Given the description of an element on the screen output the (x, y) to click on. 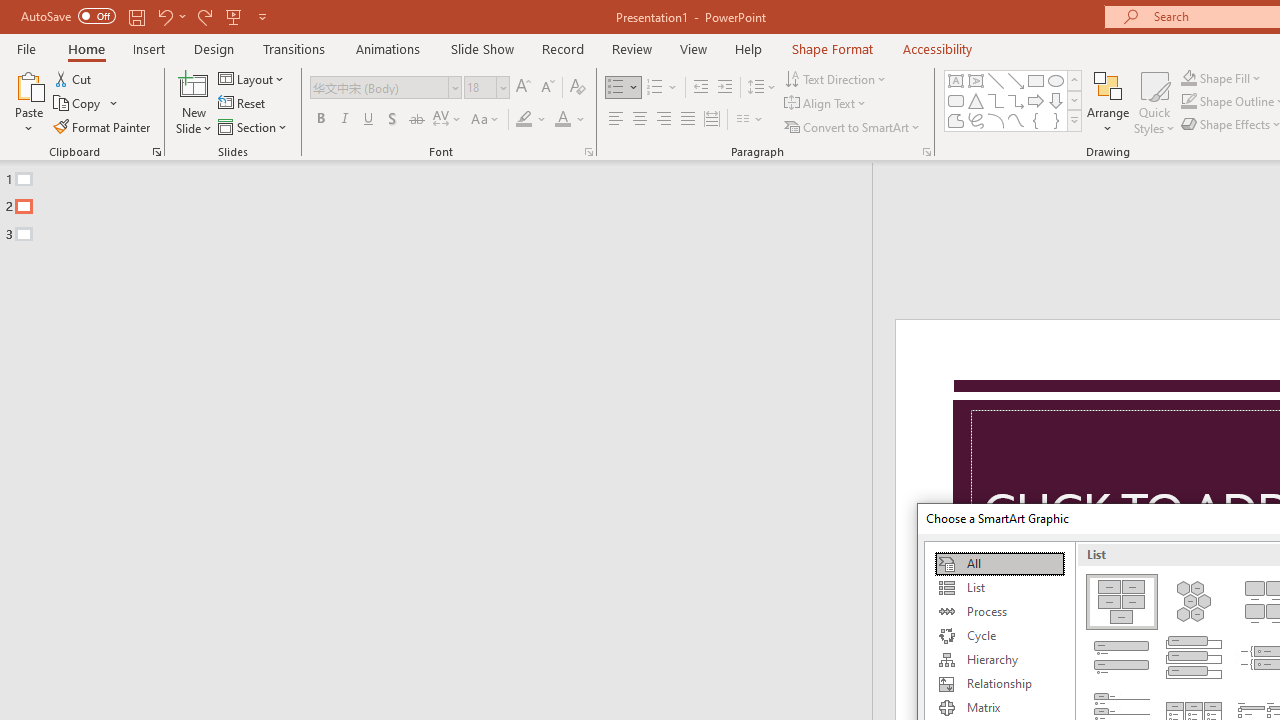
Vertical Bullet List (1121, 658)
Basic Block List (1121, 601)
